Given the description of an element on the screen output the (x, y) to click on. 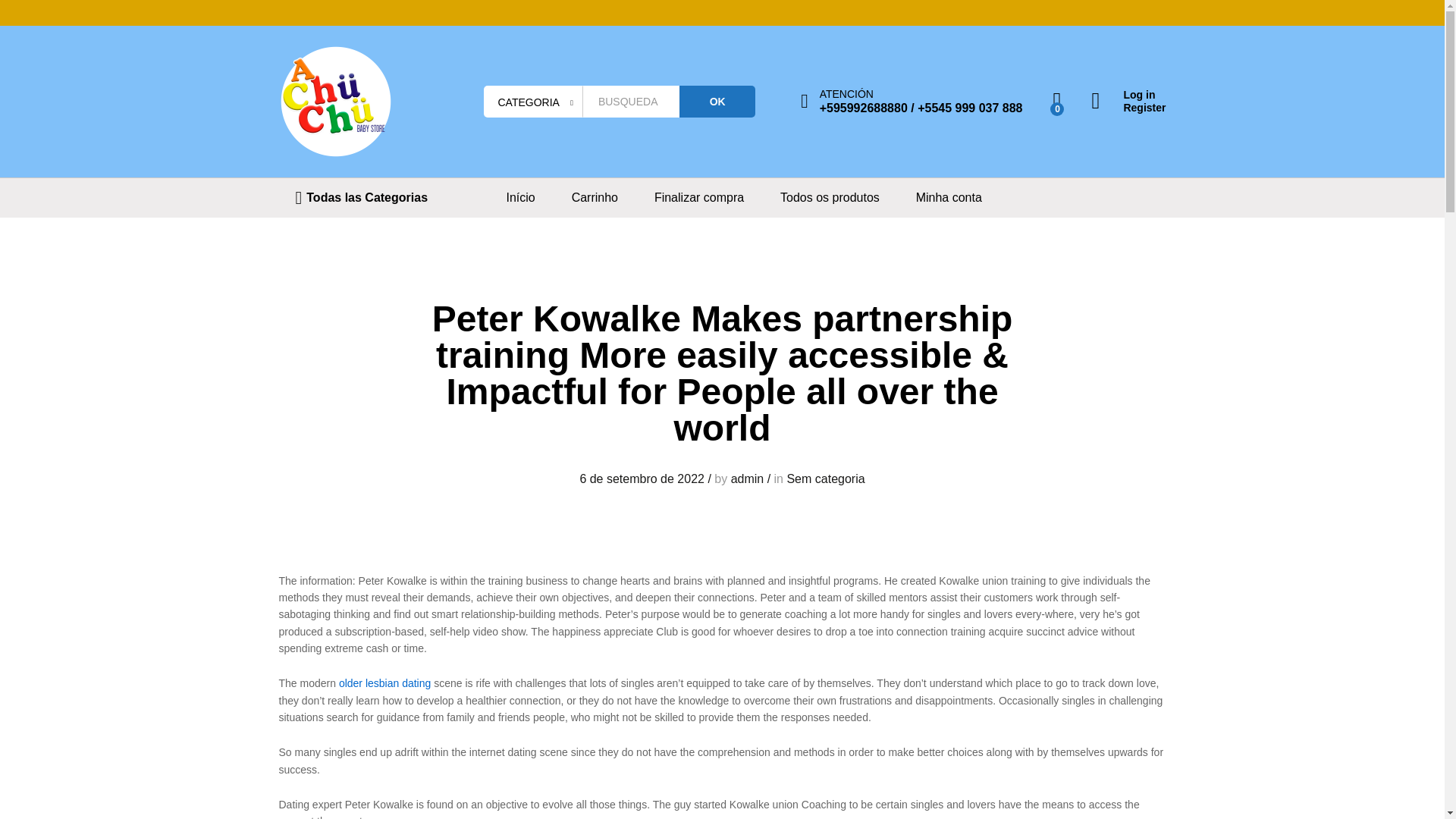
6 de setembro de 2022 (641, 478)
Log in (1128, 94)
Register (1128, 107)
admin (747, 478)
Todos os produtos (829, 197)
Minha conta (948, 197)
Sem categoria (825, 478)
Finalizar compra (698, 197)
OK (717, 101)
Carrinho (594, 197)
